Given the description of an element on the screen output the (x, y) to click on. 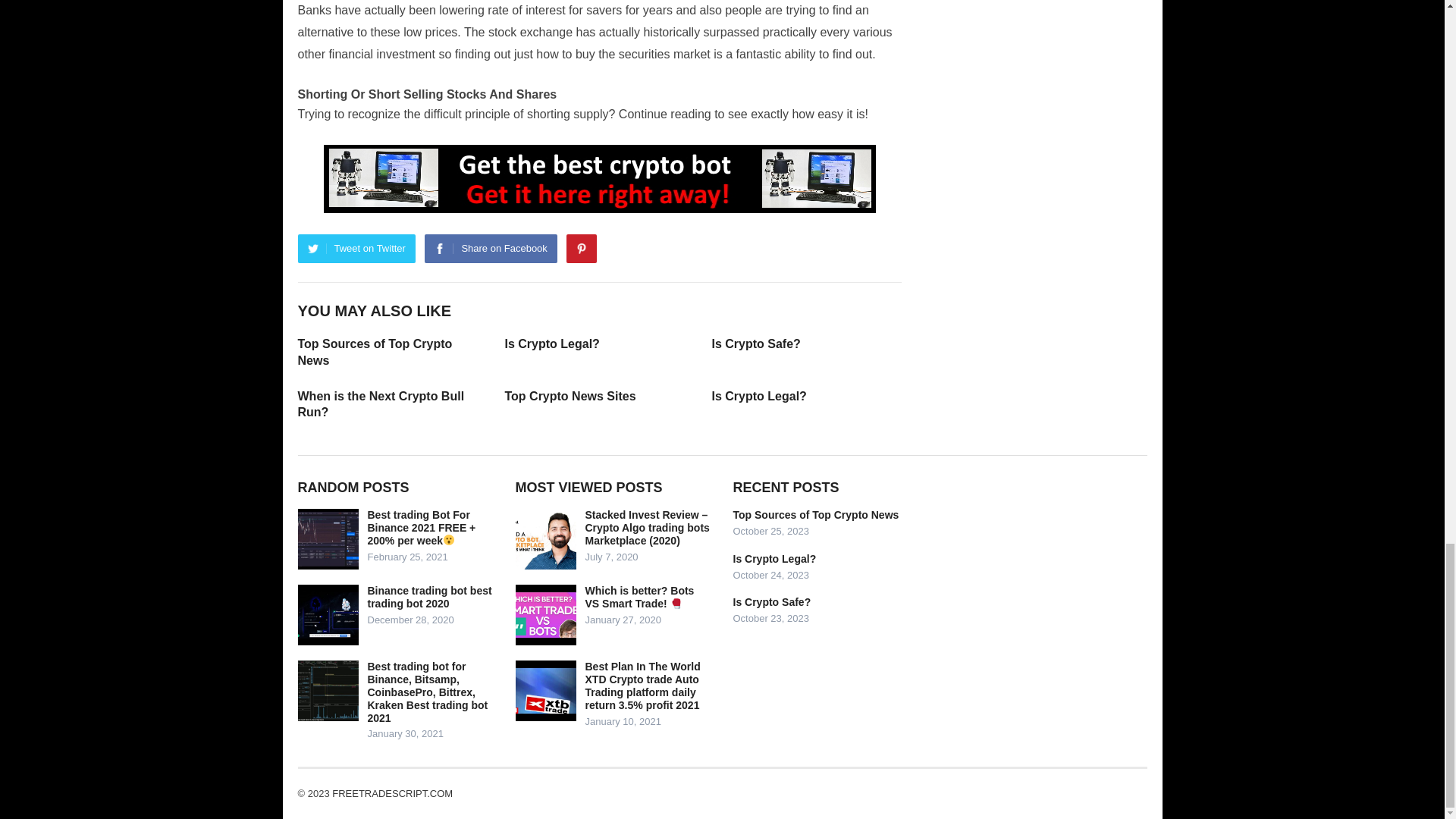
Is Crypto Legal? (758, 395)
Is Crypto Legal? (552, 343)
Top Sources of Top Crypto News (374, 351)
Share on Facebook (490, 248)
Binance trading bot best trading bot 2020 8 (327, 614)
Tweet on Twitter (355, 248)
Top Crypto News Sites (570, 395)
Is Crypto Safe? (755, 343)
When is the Next Crypto Bull Run? (380, 404)
